Given the description of an element on the screen output the (x, y) to click on. 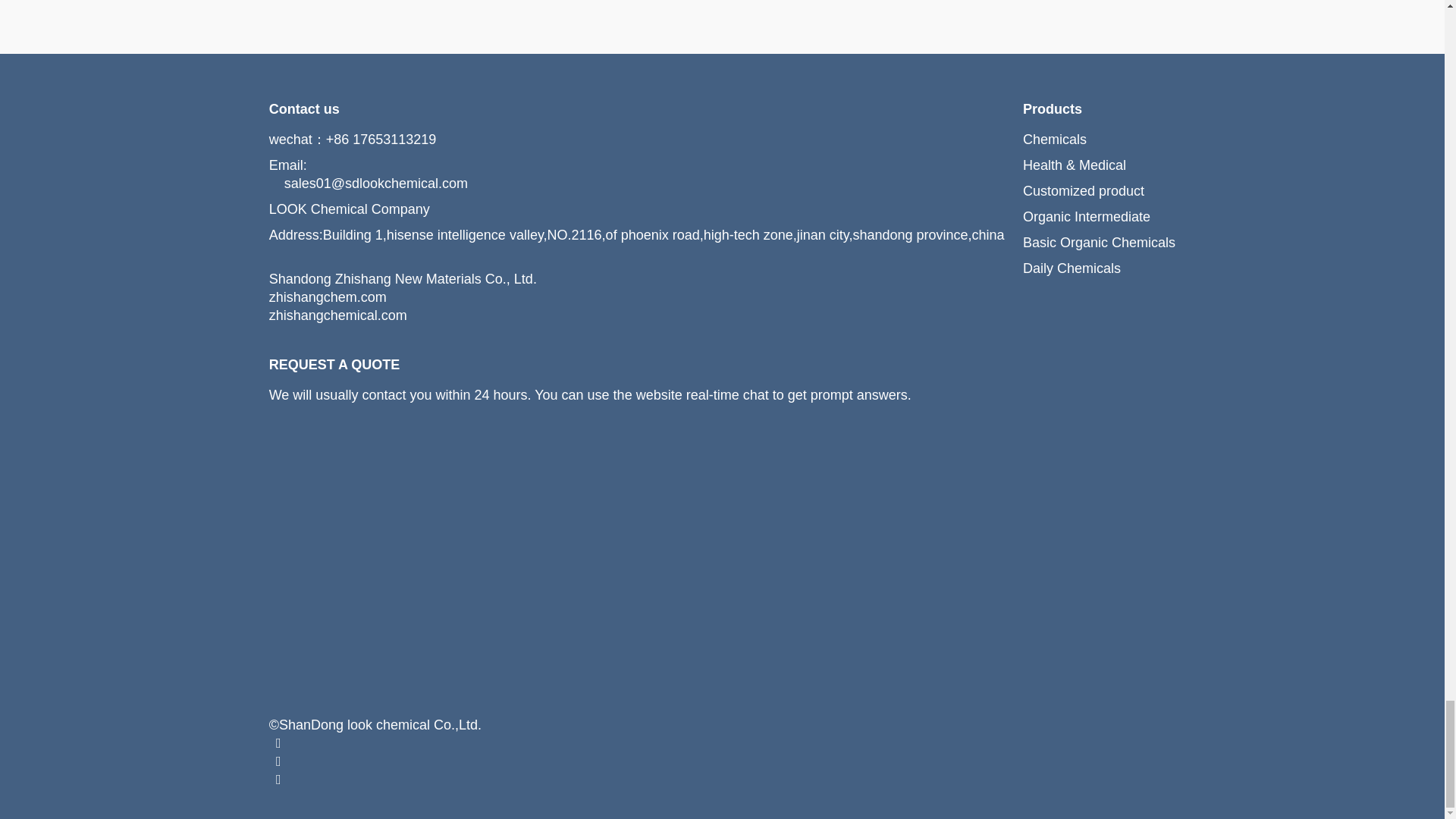
LinkedIn (278, 779)
YouTube (278, 761)
Facebook (278, 743)
